Given the description of an element on the screen output the (x, y) to click on. 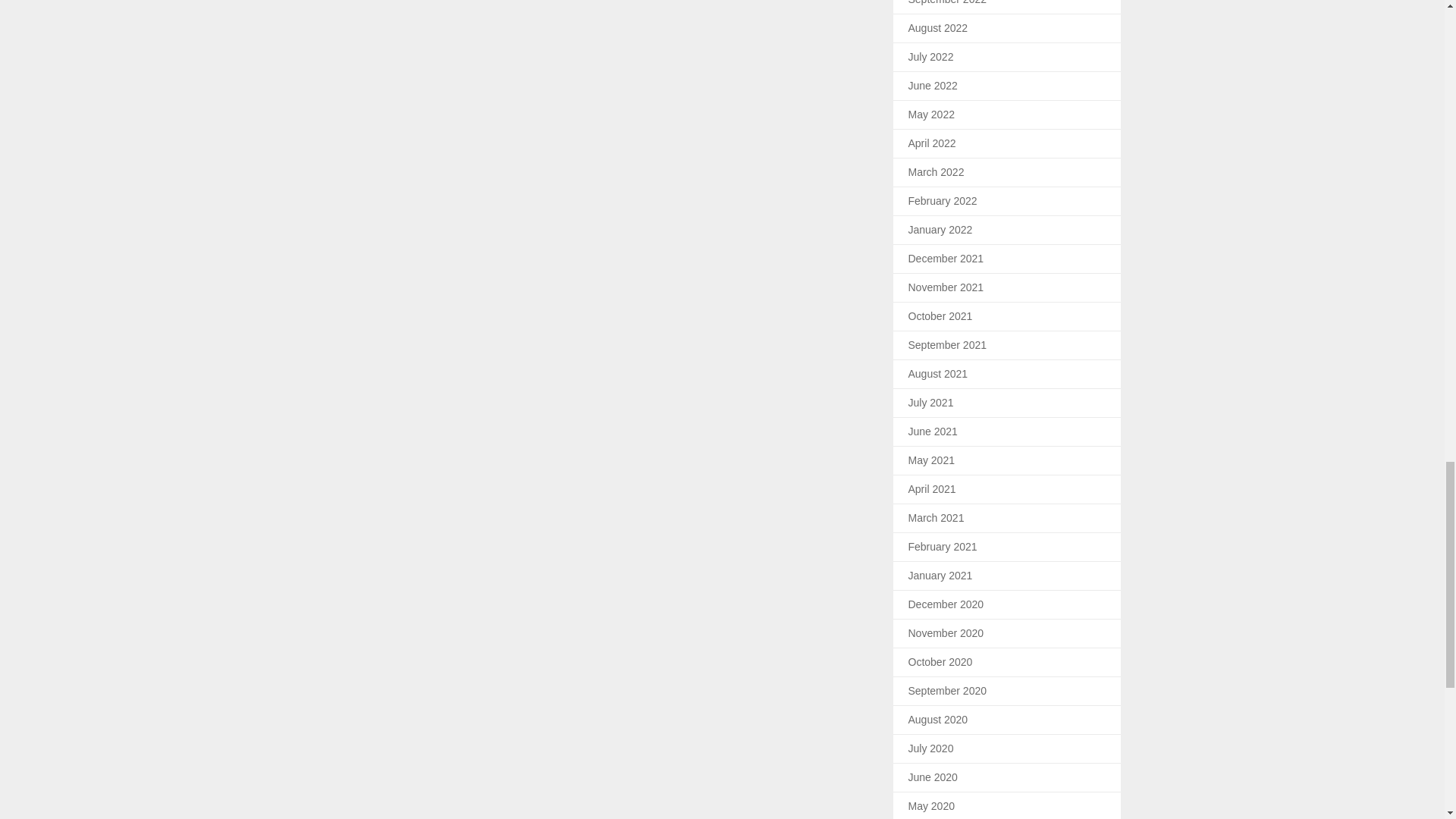
September 2022 (947, 2)
